Given the description of an element on the screen output the (x, y) to click on. 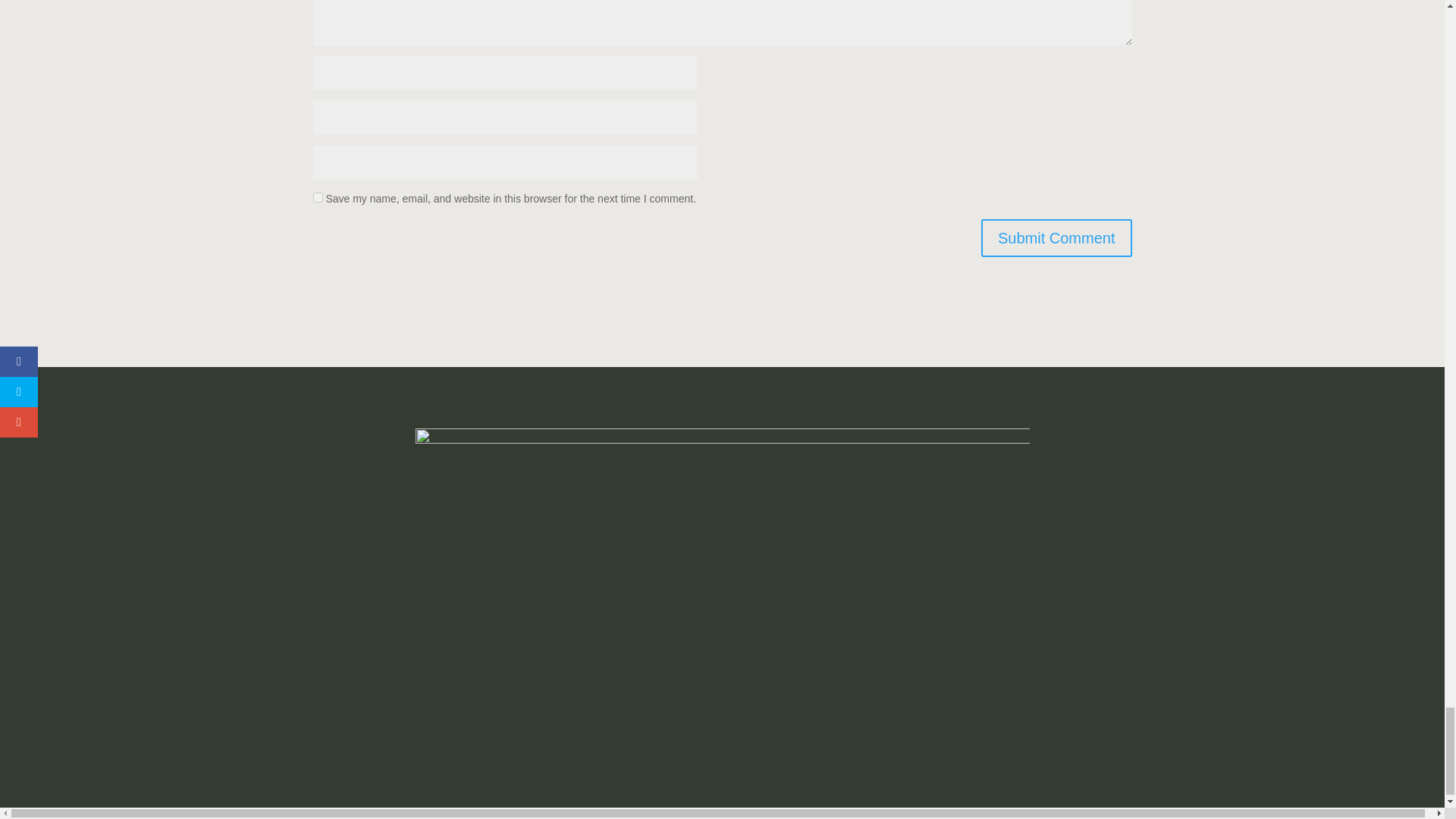
yes (317, 197)
Submit Comment (1056, 238)
